Given the description of an element on the screen output the (x, y) to click on. 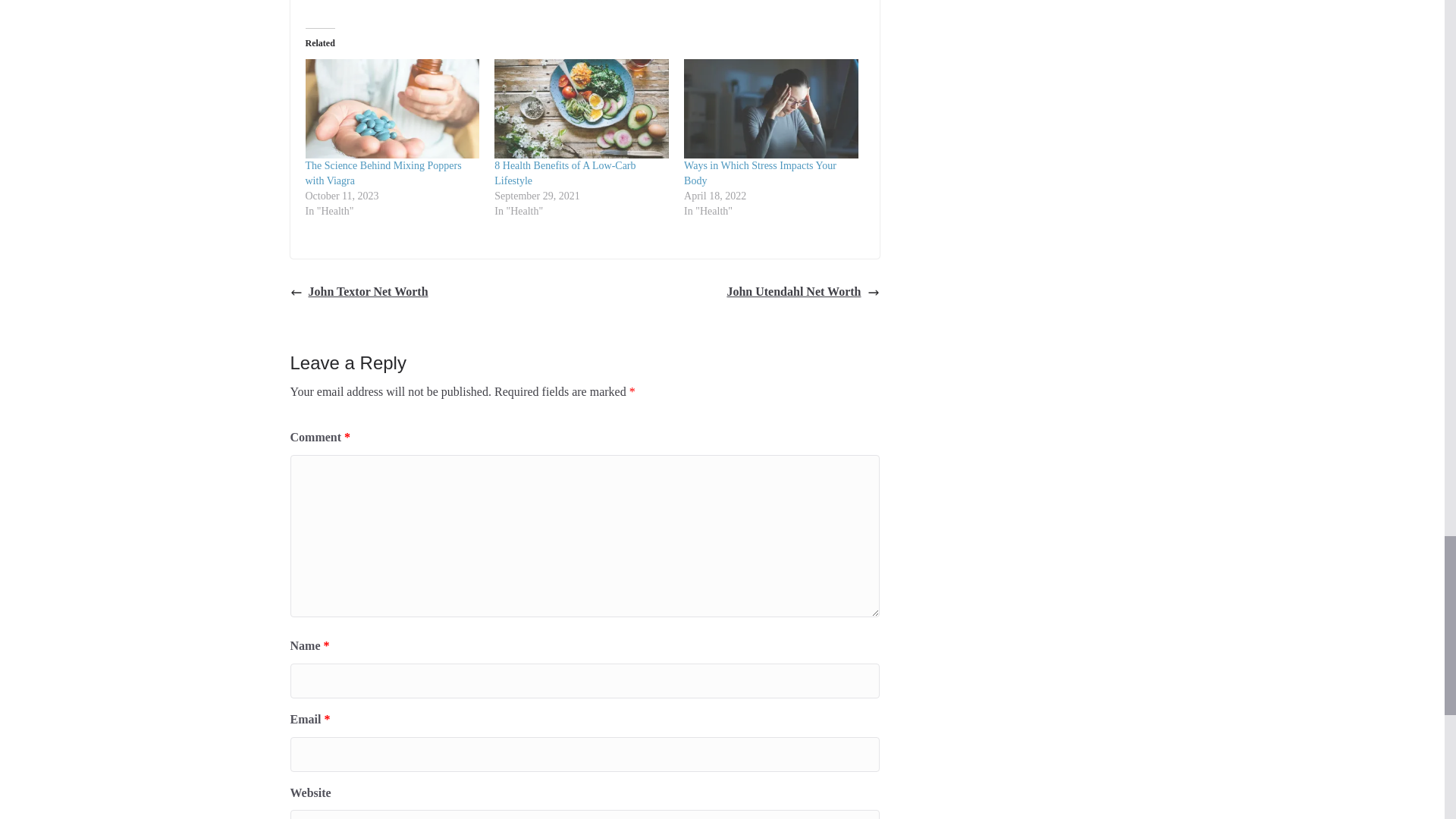
John Utendahl Net Worth (802, 292)
The Science Behind Mixing Poppers with Viagra (382, 172)
John Textor Net Worth (358, 292)
8 Health Benefits of A Low-Carb Lifestyle (564, 172)
Ways in Which Stress Impacts Your Body (759, 172)
